Given the description of an element on the screen output the (x, y) to click on. 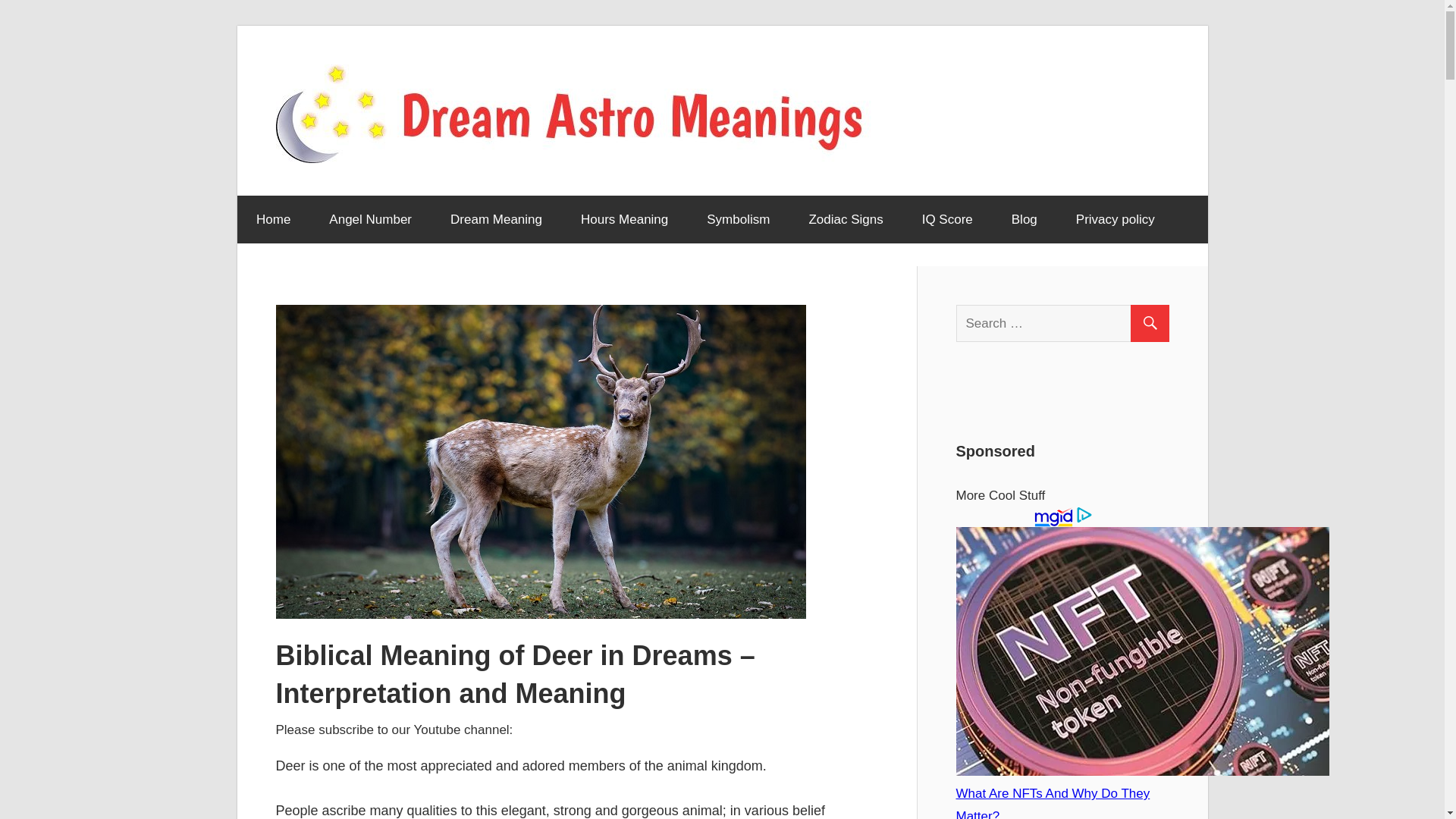
IQ Score (946, 219)
Blog (1024, 219)
Zodiac Signs (845, 219)
Angel Number (370, 219)
Symbolism (738, 219)
Search for: (1068, 323)
Hours Meaning (623, 219)
Home (271, 219)
Privacy policy (1115, 219)
Dream Meaning (496, 219)
